Given the description of an element on the screen output the (x, y) to click on. 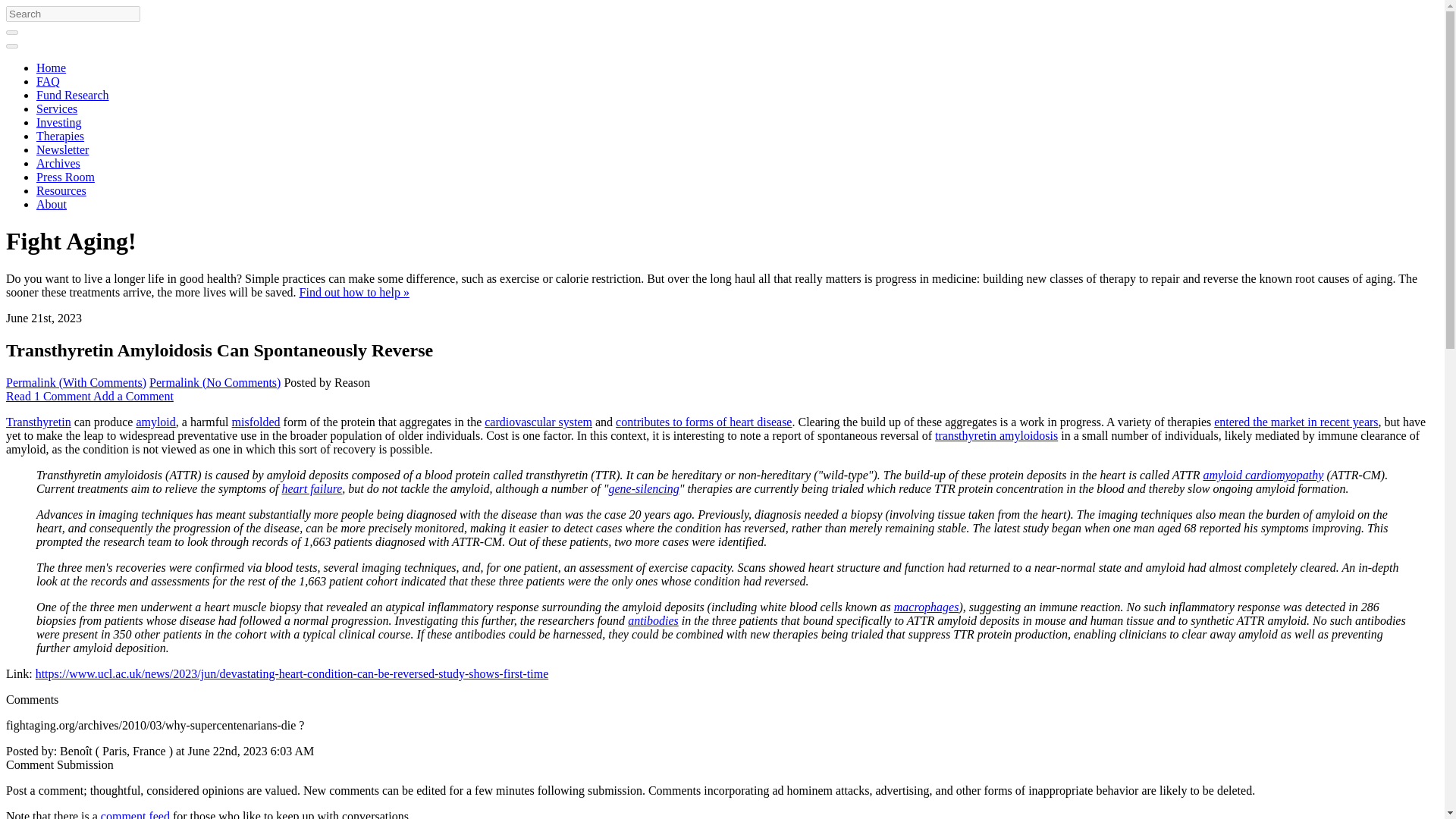
Add a Comment (133, 395)
About (51, 204)
antibodies (652, 620)
Read 1 Comment (49, 395)
heart failure (312, 488)
misfolded (256, 421)
FAQ (47, 81)
comment feed (135, 814)
entered the market in recent years (1295, 421)
Fund Research (72, 94)
